Given the description of an element on the screen output the (x, y) to click on. 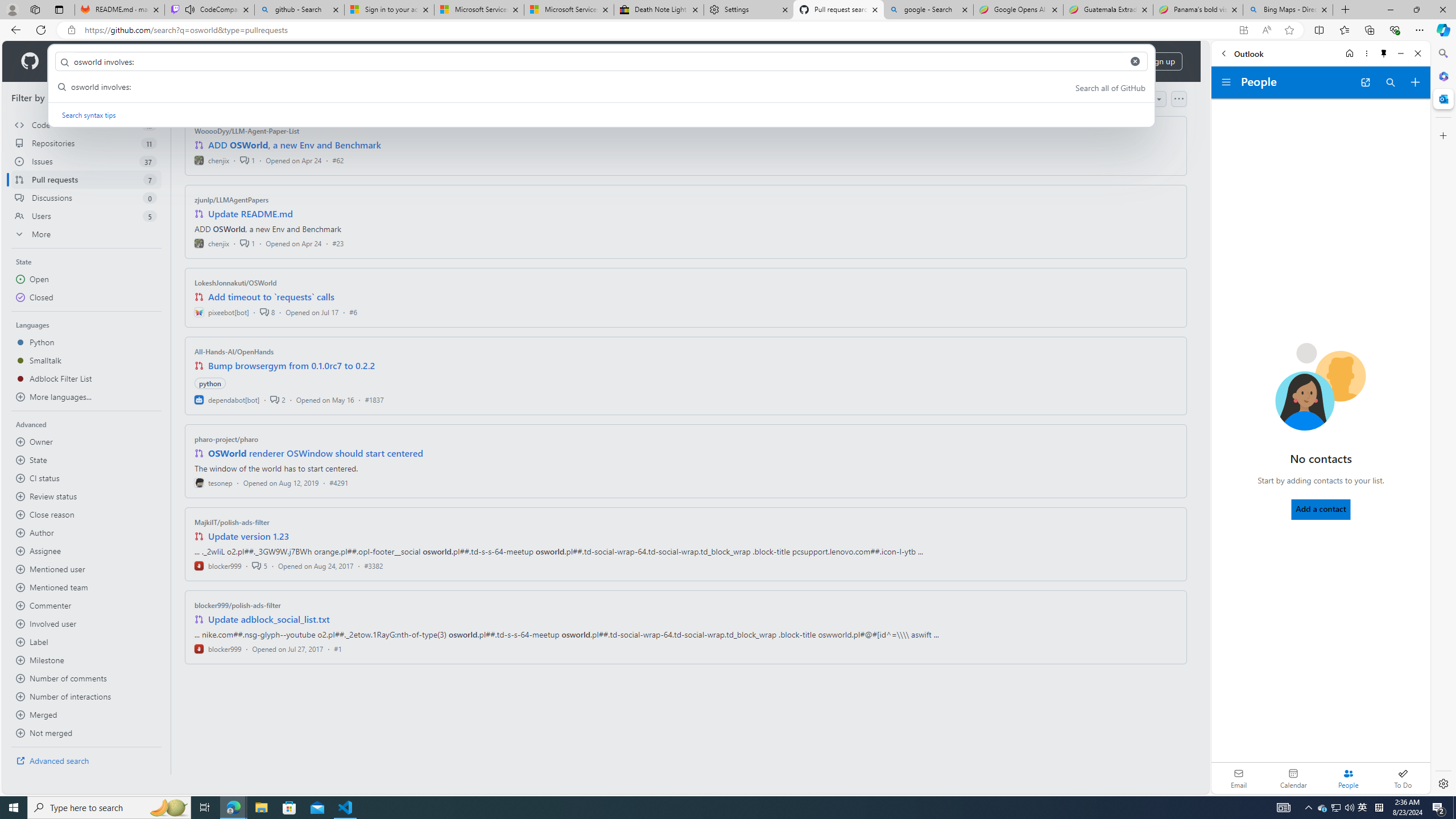
ADD OSWorld, a new Env and Benchmark (294, 144)
chenjix (211, 242)
pharo-project/pharo (226, 438)
Pricing (368, 60)
